Given the description of an element on the screen output the (x, y) to click on. 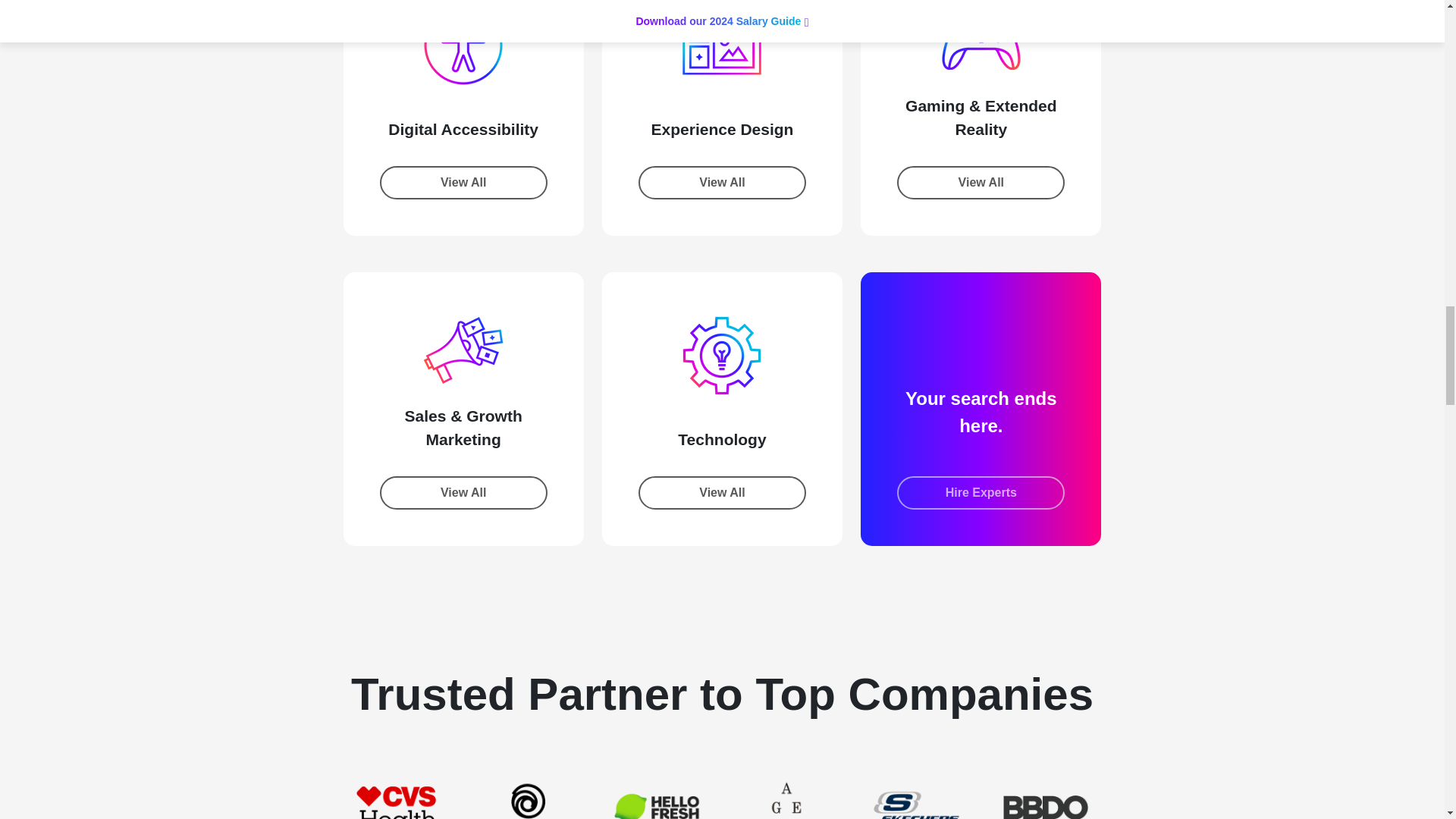
View All (462, 182)
View All (722, 182)
